Given the description of an element on the screen output the (x, y) to click on. 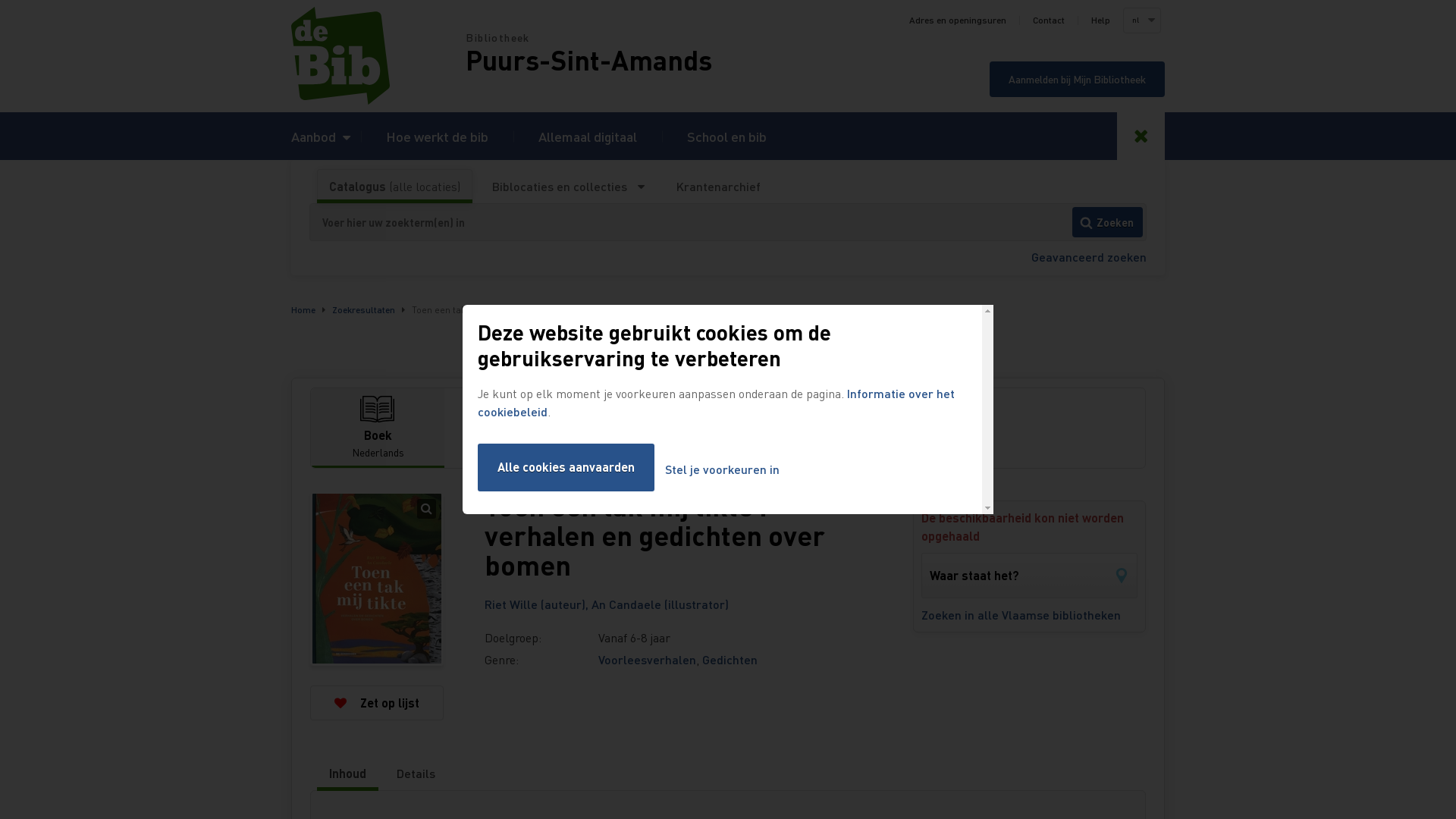
Zet op lijst Element type: text (376, 702)
Voorleesverhalen Element type: text (647, 659)
Gedichten Element type: text (729, 659)
Biblocaties en collecties Element type: text (567, 186)
Details Element type: text (415, 773)
nl Element type: text (1140, 20)
Catalogus (alle locaties) Element type: text (394, 186)
Aanmelden bij Mijn Bibliotheek Element type: text (1076, 79)
Informatie over het cookiebeleid Element type: text (715, 402)
Riet Wille (auteur), Element type: text (537, 603)
Zoeken in alle Vlaamse bibliotheken Element type: text (1029, 614)
School en bib Element type: text (726, 136)
Alle cookies aanvaarden Element type: text (565, 466)
Contact Element type: text (1048, 20)
Zoeken Element type: text (1107, 222)
Geavanceerd zoeken Element type: text (1088, 256)
Home Element type: hover (378, 55)
Inhoud Element type: text (347, 773)
Waar staat het? Element type: text (1029, 575)
Help Element type: text (1100, 20)
Overslaan en naar zoeken gaan Element type: text (0, 0)
Adres en openingsuren Element type: text (957, 20)
An Candaele (illustrator) Element type: text (659, 603)
Stel je voorkeuren in Element type: text (722, 469)
Krantenarchief Element type: text (718, 186)
Toggle search Element type: hover (1140, 136)
Allemaal digitaal Element type: text (587, 136)
Hoe werkt de bib Element type: text (436, 136)
Zoekresultaten Element type: text (363, 309)
Home Element type: text (303, 309)
